Given the description of an element on the screen output the (x, y) to click on. 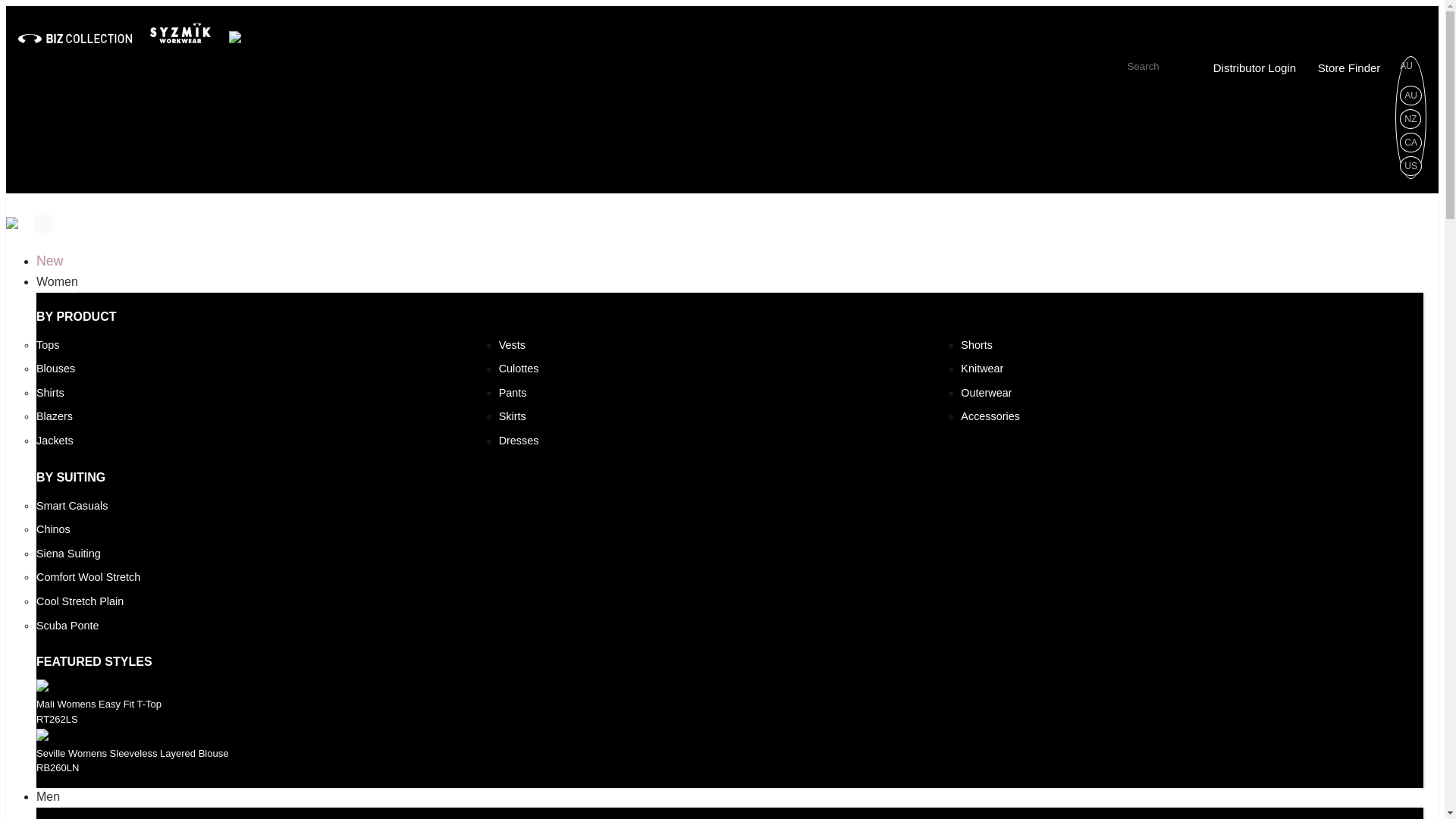
Vests (512, 345)
Outerwear (985, 393)
Shorts (976, 345)
Smart Casuals (71, 506)
Blouses (55, 369)
Chinos (52, 529)
US (1410, 165)
Dresses (518, 441)
AU (1410, 95)
Jackets (55, 441)
